Given the description of an element on the screen output the (x, y) to click on. 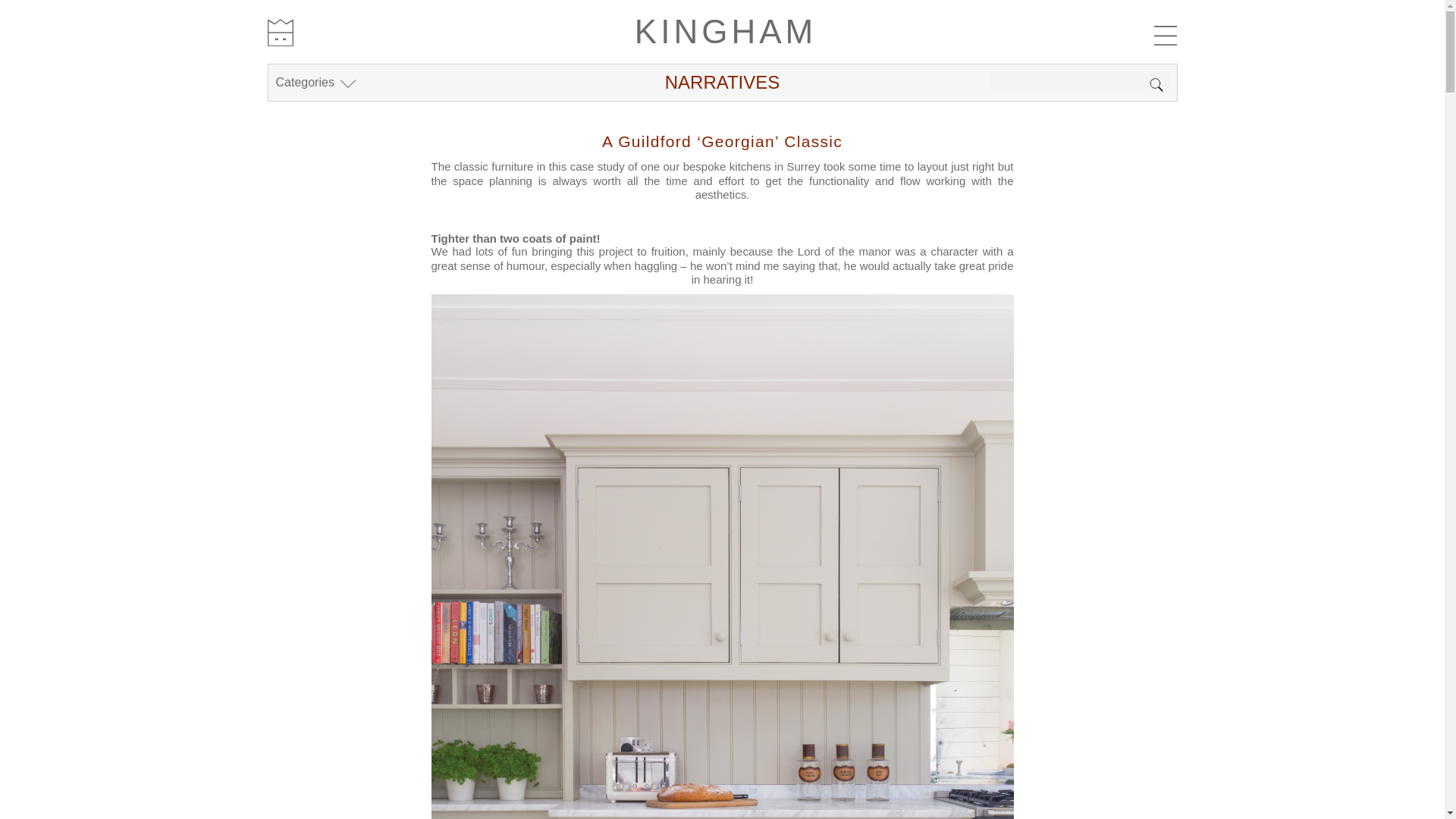
KINGHAM (723, 31)
Categories (314, 82)
NARRATIVES (722, 82)
